Given the description of an element on the screen output the (x, y) to click on. 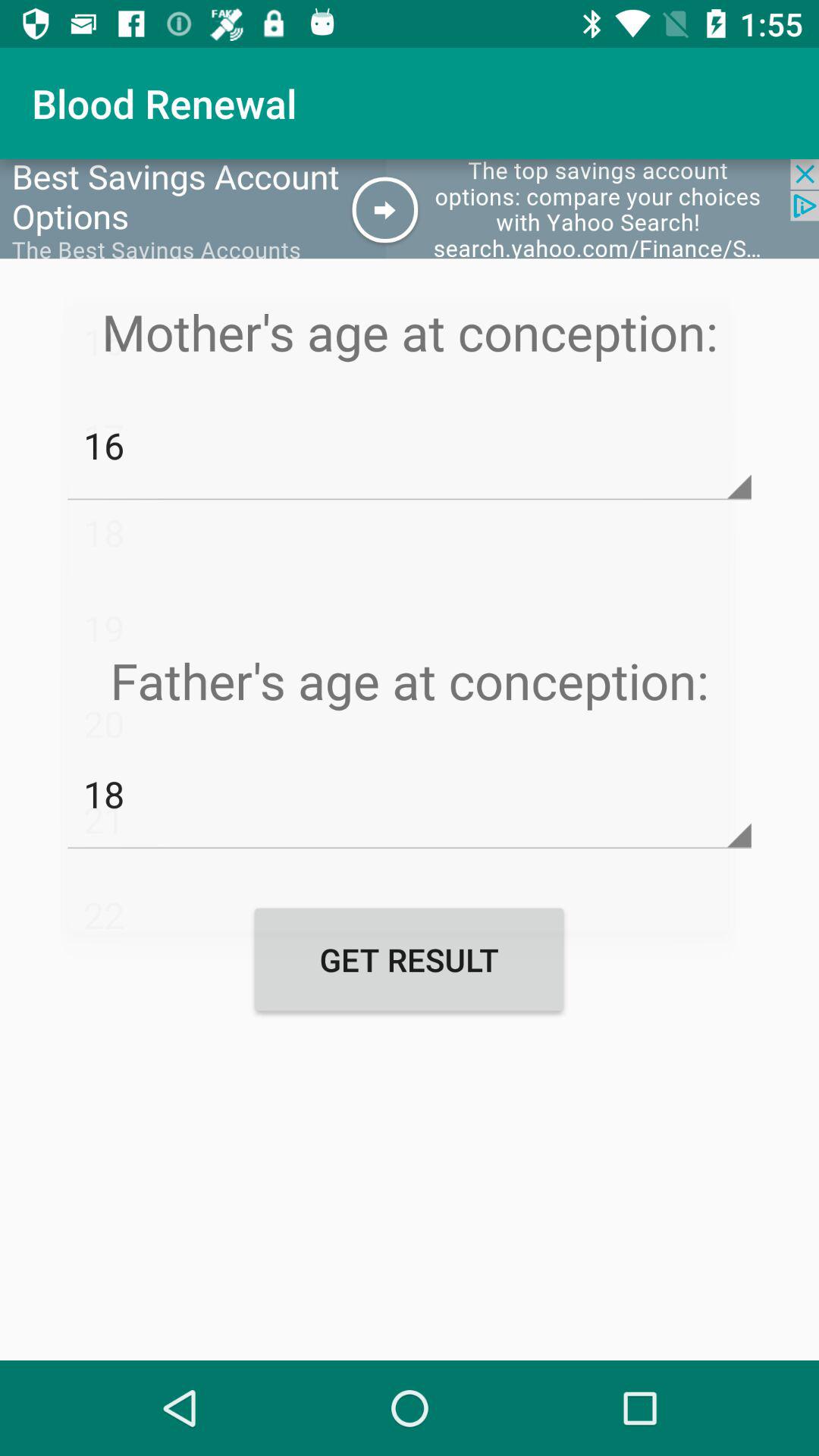
opens an advertisement (409, 208)
